Given the description of an element on the screen output the (x, y) to click on. 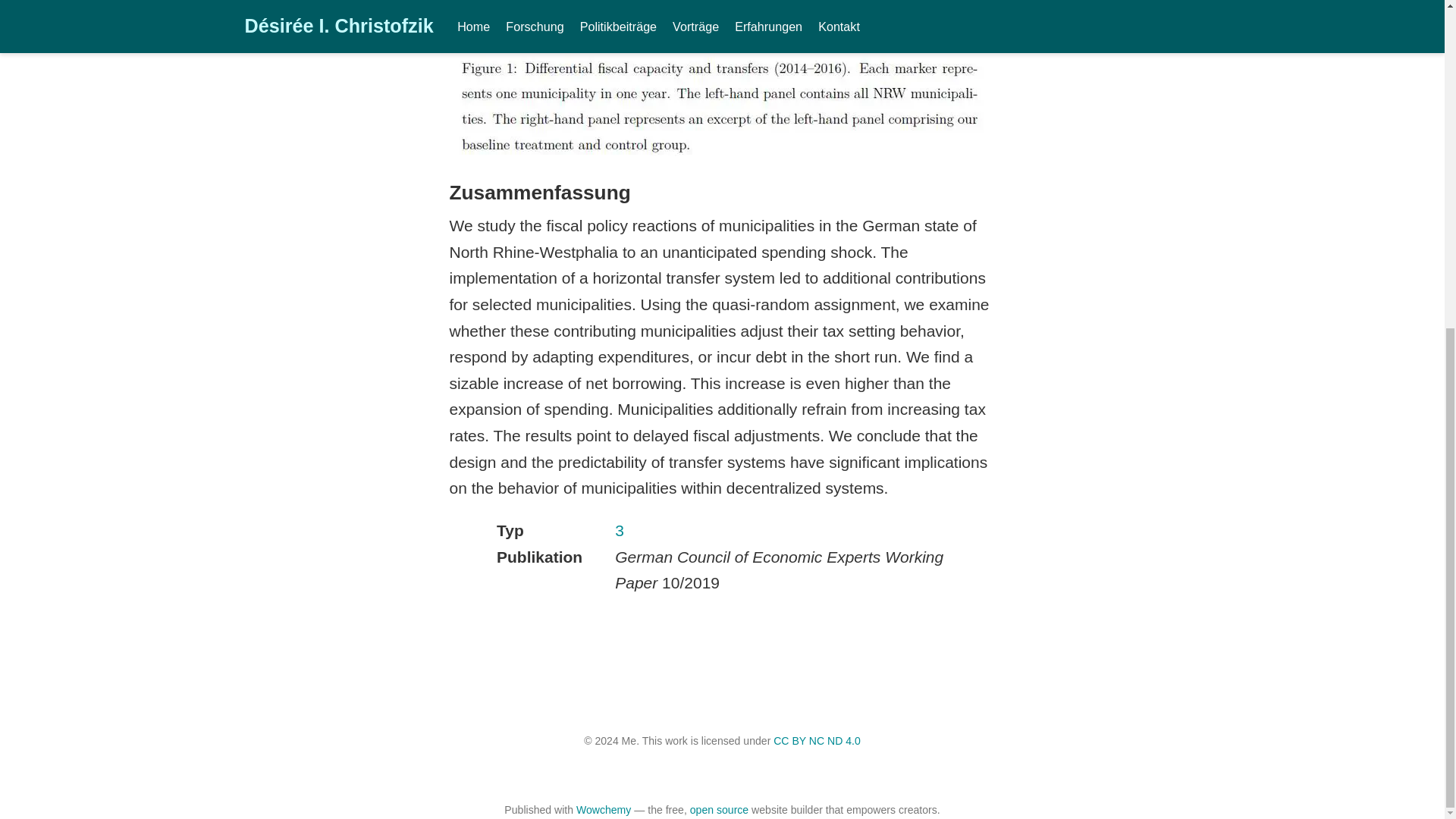
CC BY NC ND 4.0 (816, 740)
Wowchemy (603, 809)
open source (719, 809)
